Given the description of an element on the screen output the (x, y) to click on. 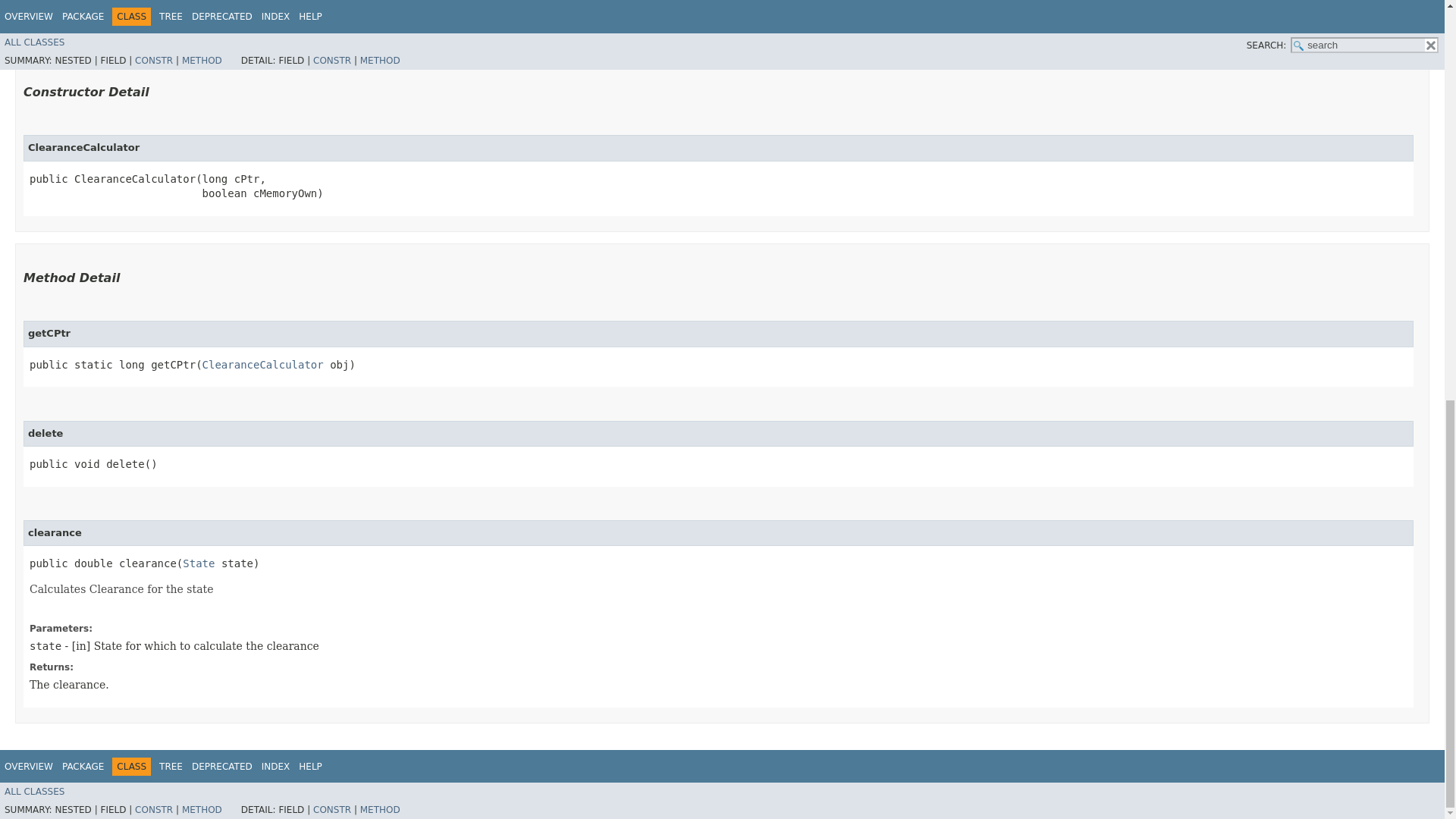
State (198, 563)
Navigation (163, 766)
ClearanceCalculator (262, 364)
